Given the description of an element on the screen output the (x, y) to click on. 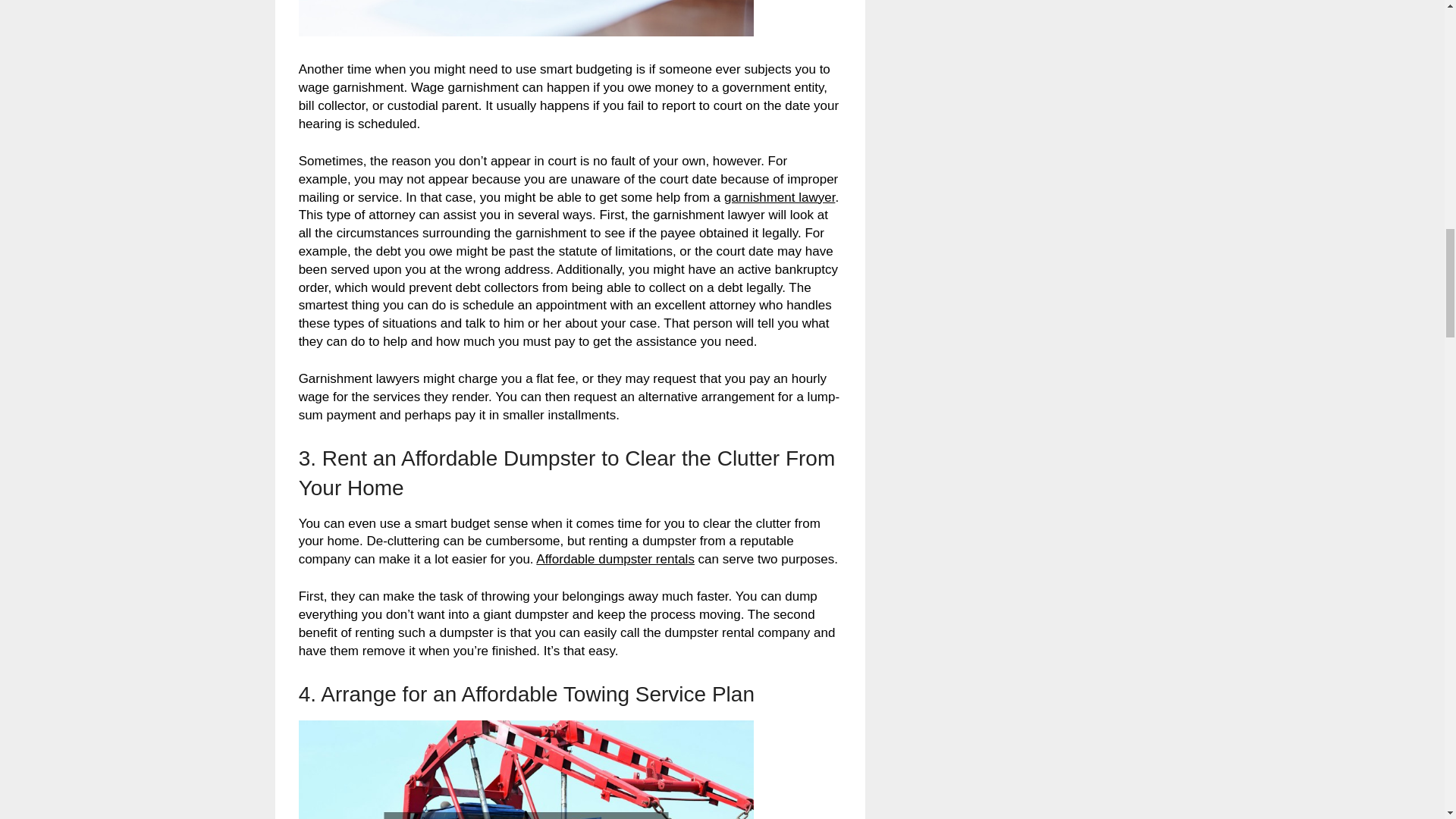
Affordable dumpster rentals (614, 559)
garnishment lawyer (778, 197)
